Given the description of an element on the screen output the (x, y) to click on. 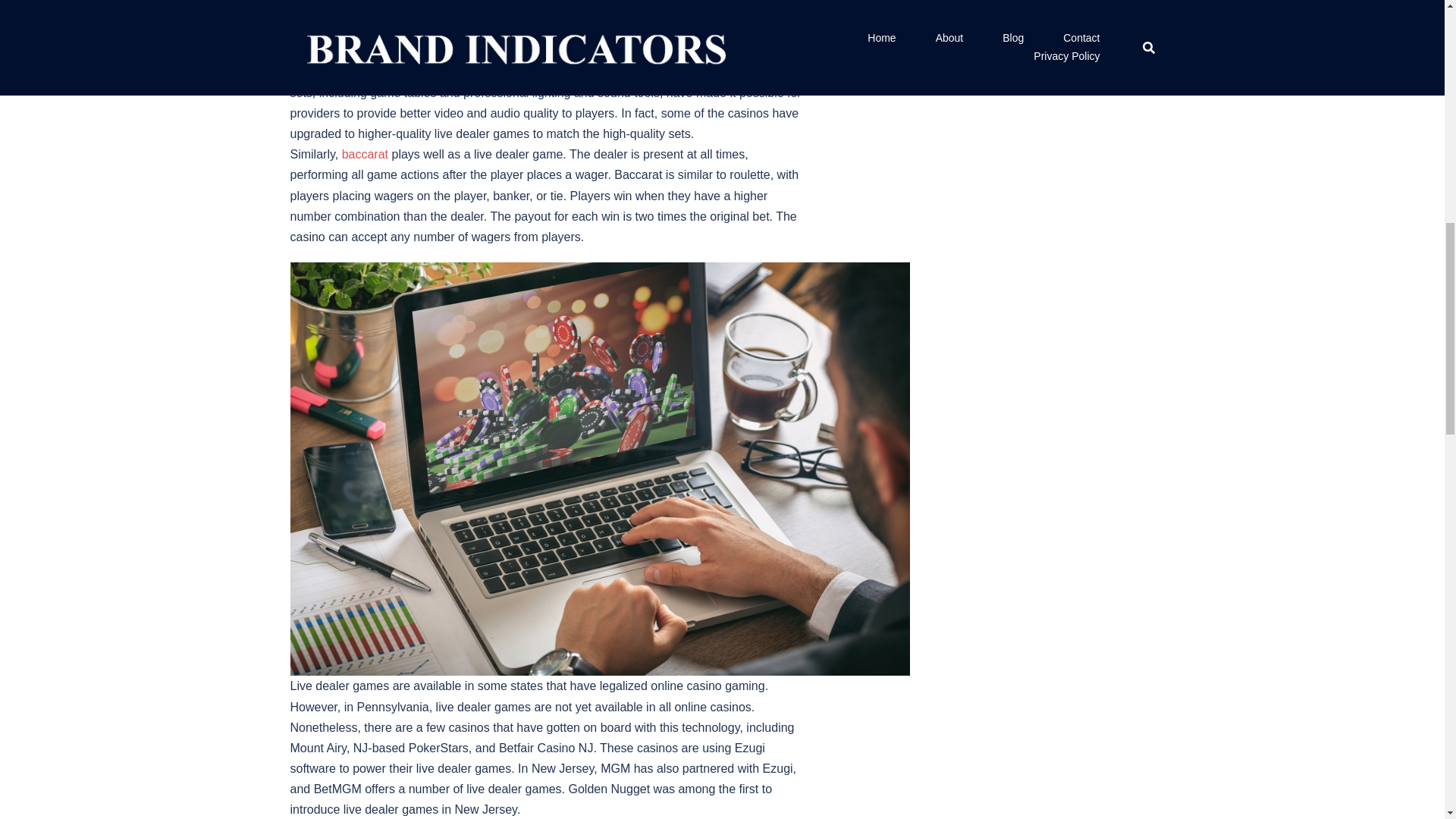
baccarat (365, 154)
